Given the description of an element on the screen output the (x, y) to click on. 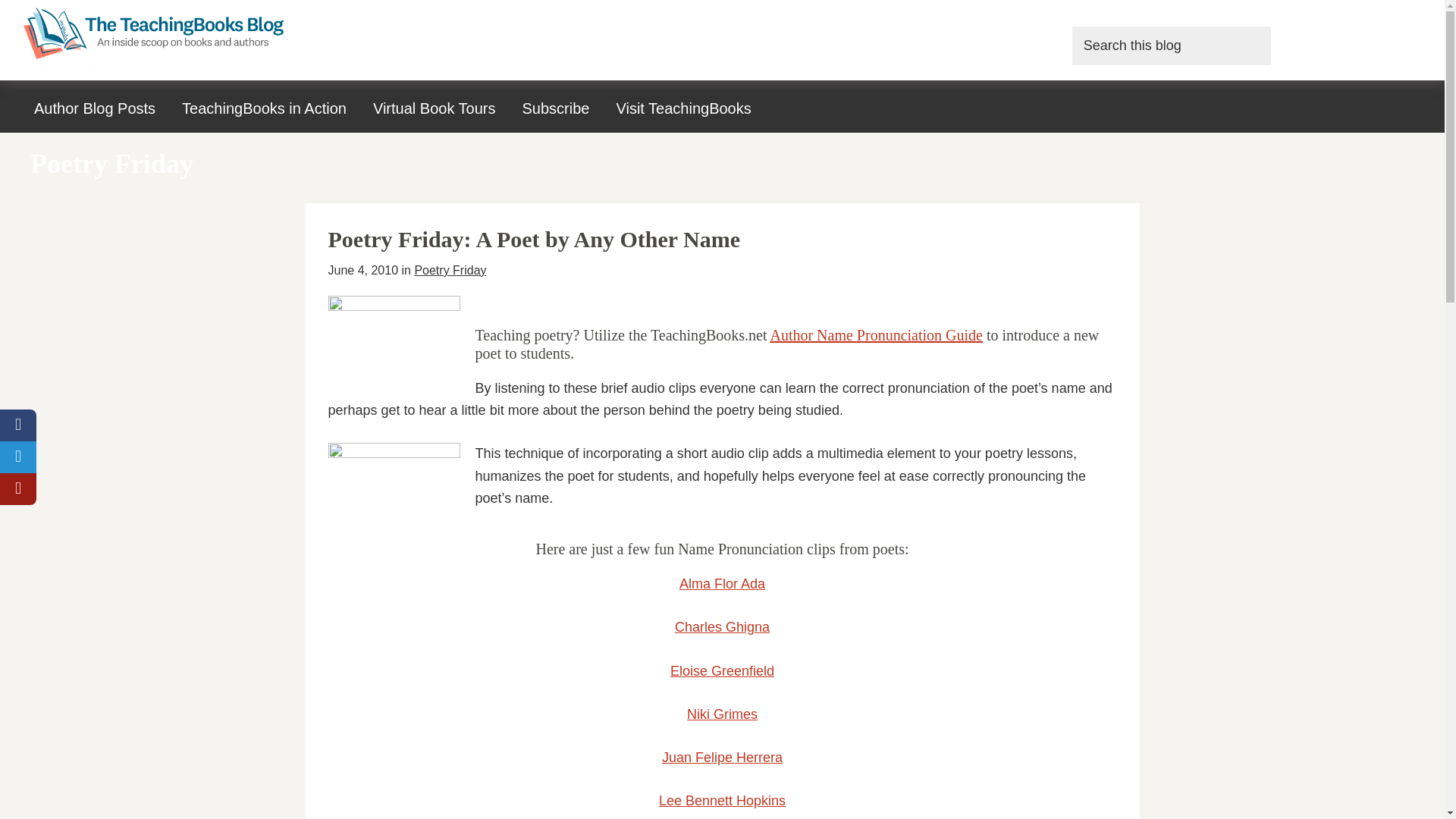
Virtual Book Tours (433, 108)
Alma Flor Ada (722, 583)
Juan Felipe Herrera (722, 757)
Poetry Friday (449, 269)
Author Blog Posts (95, 108)
Eloise Greenfield (721, 670)
Subscribe (556, 108)
Lee Bennett Hopkins (722, 800)
TeachingBooks in Action (264, 108)
Charles Ghigna (722, 626)
Visit TeachingBooks (682, 108)
Author Name Pronunciation Guide (876, 334)
Niki Grimes (722, 713)
